Given the description of an element on the screen output the (x, y) to click on. 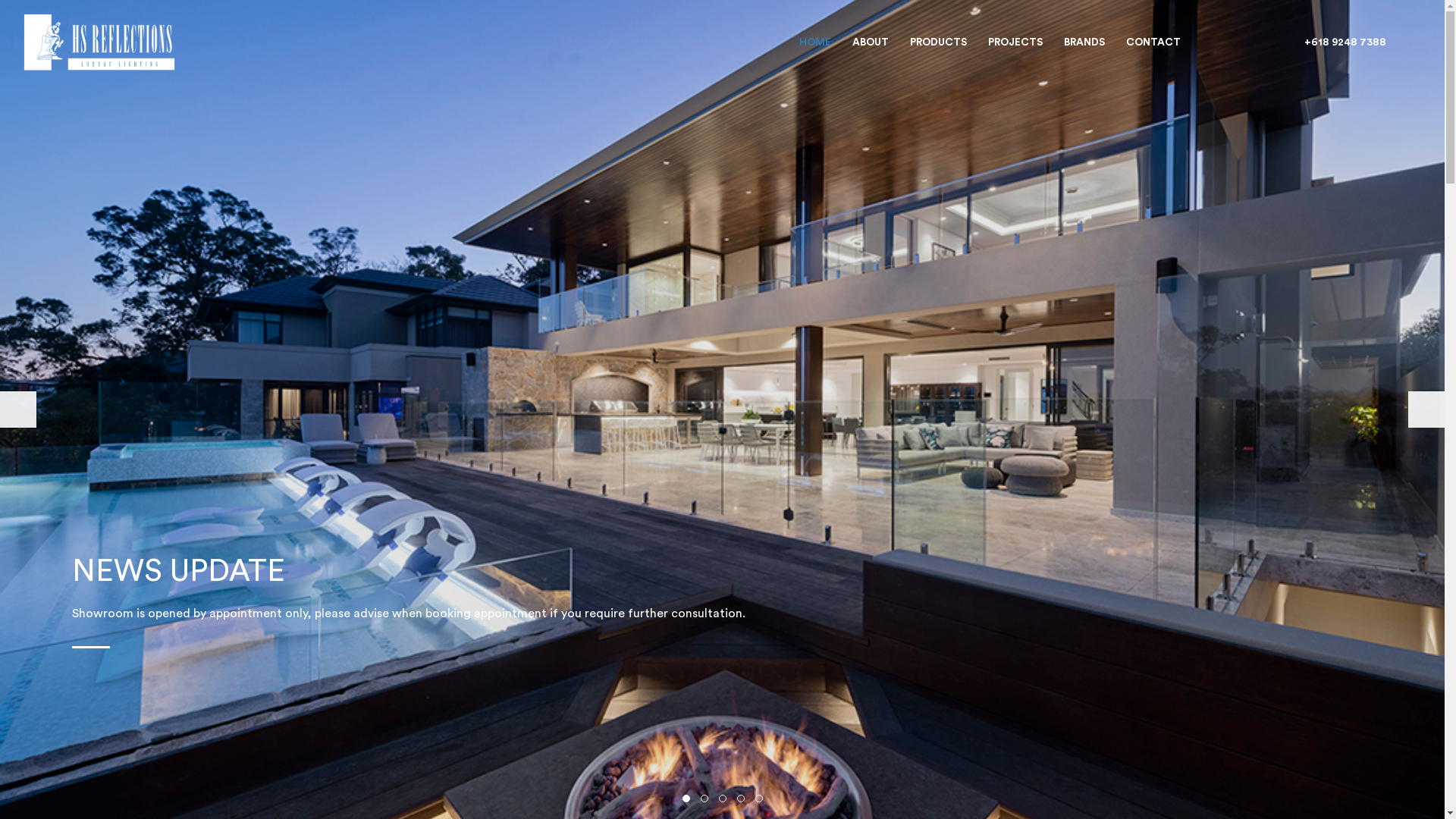
HS Reflections Element type: text (40, 9)
PROJECTS Element type: text (1015, 37)
PRODUCTS Element type: text (938, 37)
BRANDS Element type: text (1084, 37)
CONTACT Element type: text (1153, 37)
ABOUT Element type: text (870, 37)
+618 9248 7388 Element type: text (1341, 37)
HOME Element type: text (814, 37)
